Given the description of an element on the screen output the (x, y) to click on. 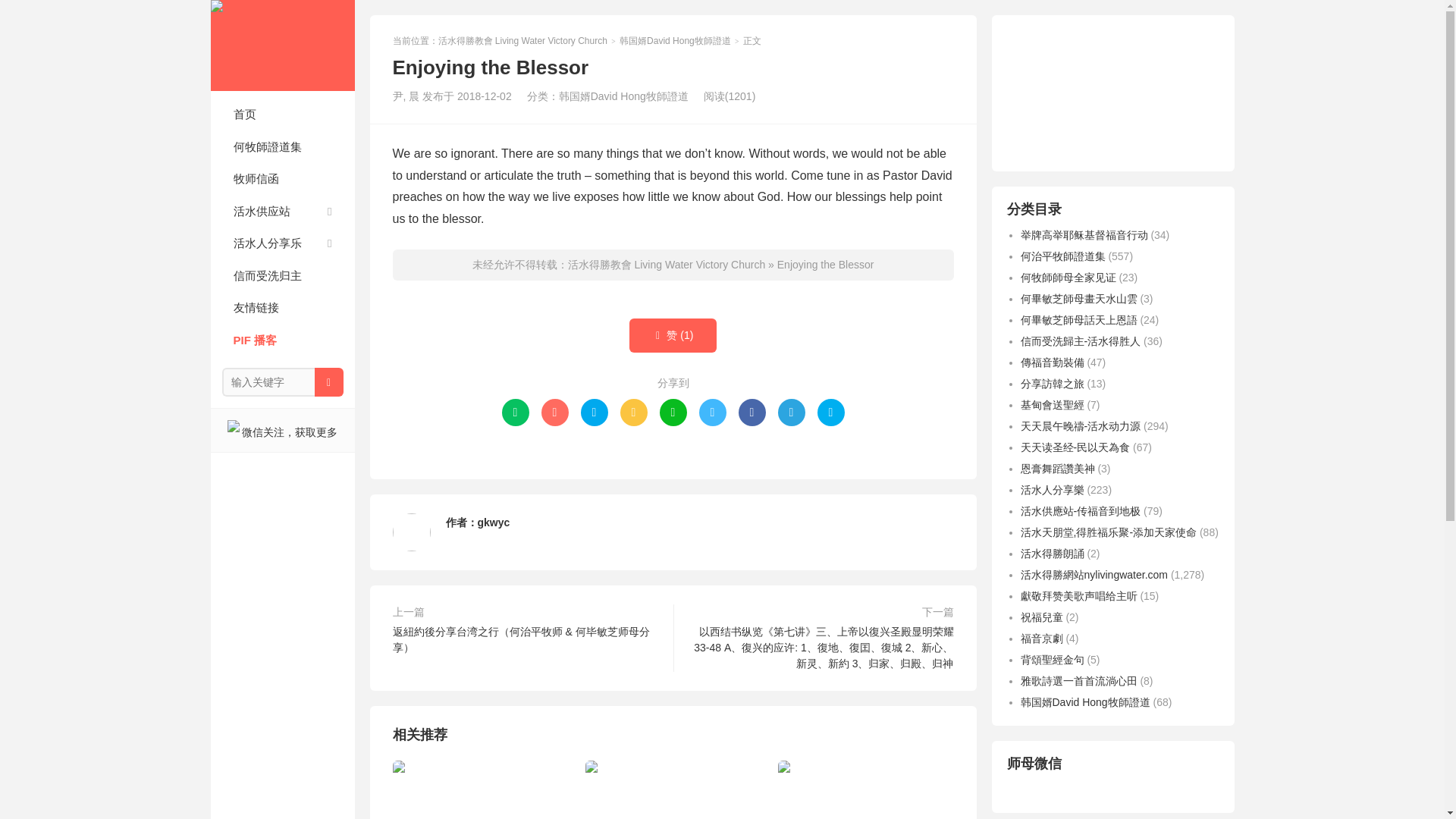
Enjoying the Blessor (826, 264)
gkwyc (494, 522)
